Given the description of an element on the screen output the (x, y) to click on. 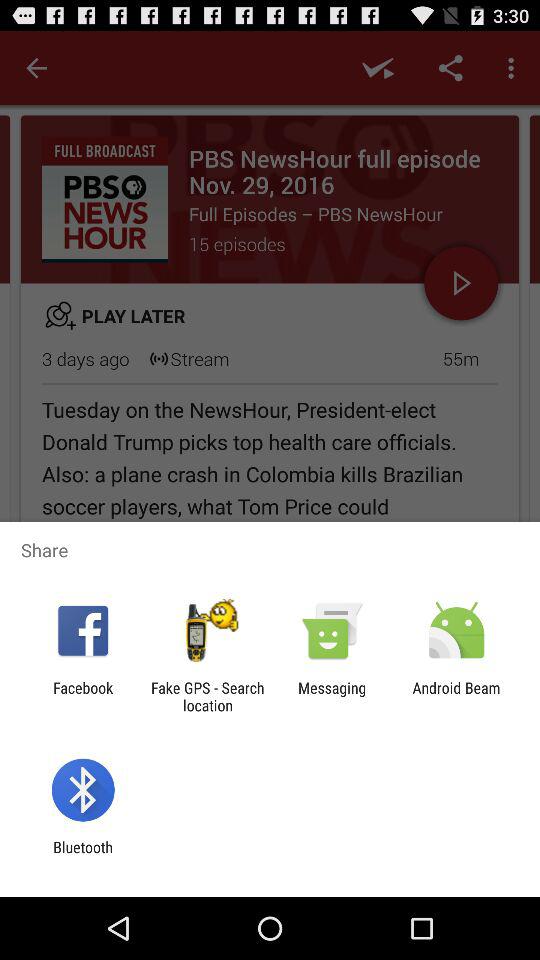
tap fake gps search item (207, 696)
